Given the description of an element on the screen output the (x, y) to click on. 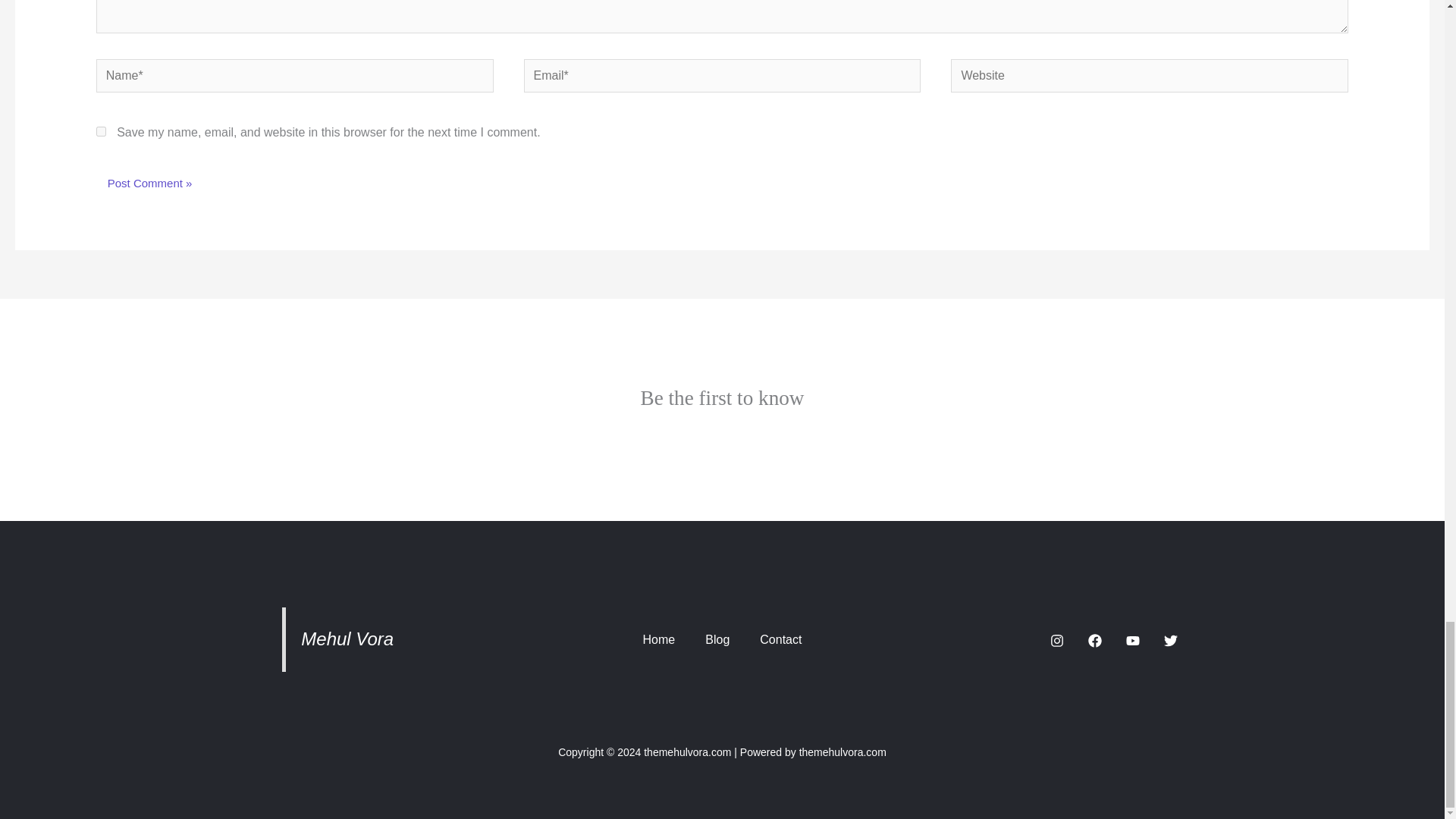
yes (101, 131)
